Given the description of an element on the screen output the (x, y) to click on. 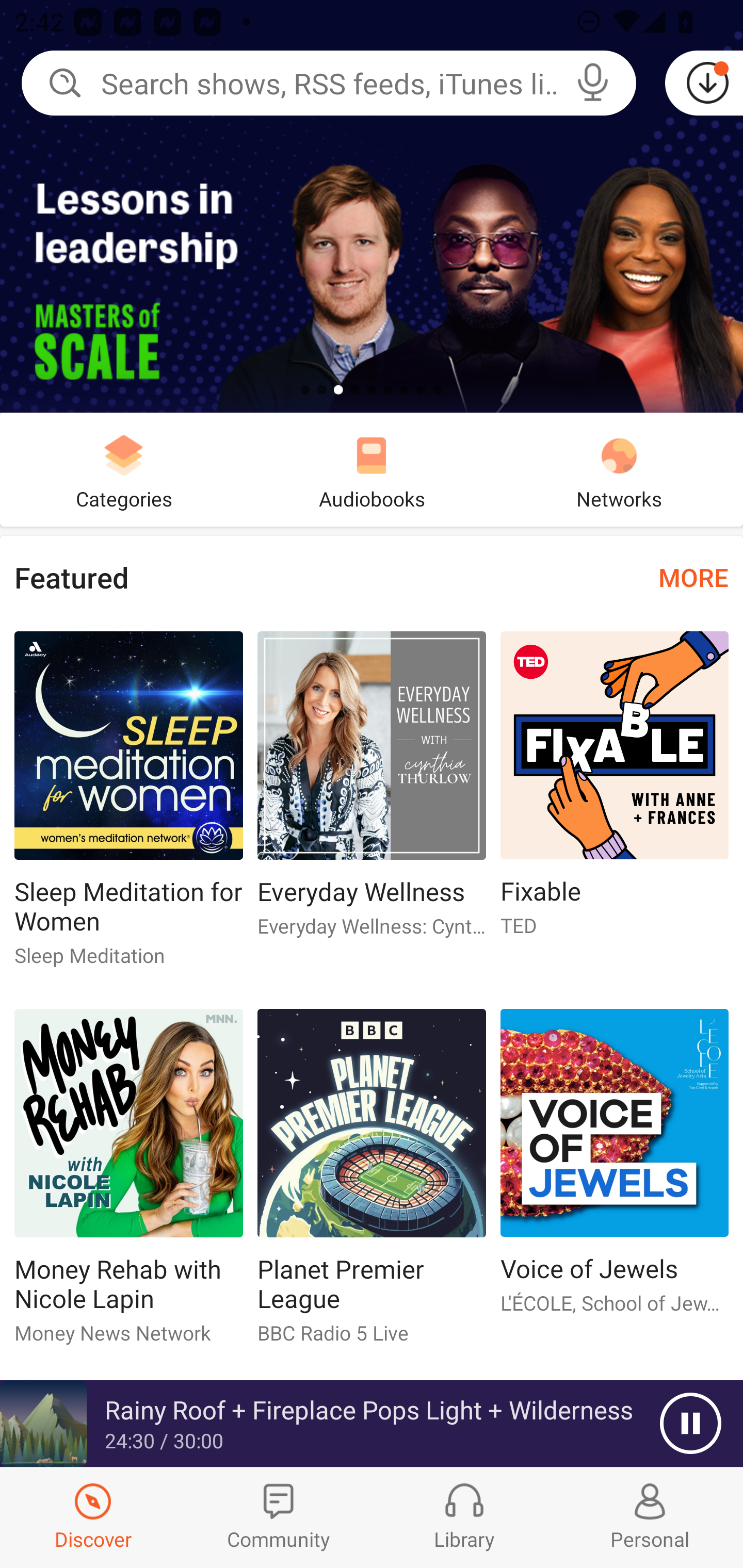
Masters of Scale (371, 206)
Categories (123, 469)
Audiobooks (371, 469)
Networks (619, 469)
MORE (693, 576)
Fixable Fixable TED (614, 792)
Pause (690, 1423)
Discover (92, 1517)
Community (278, 1517)
Library (464, 1517)
Profiles and Settings Personal (650, 1517)
